Given the description of an element on the screen output the (x, y) to click on. 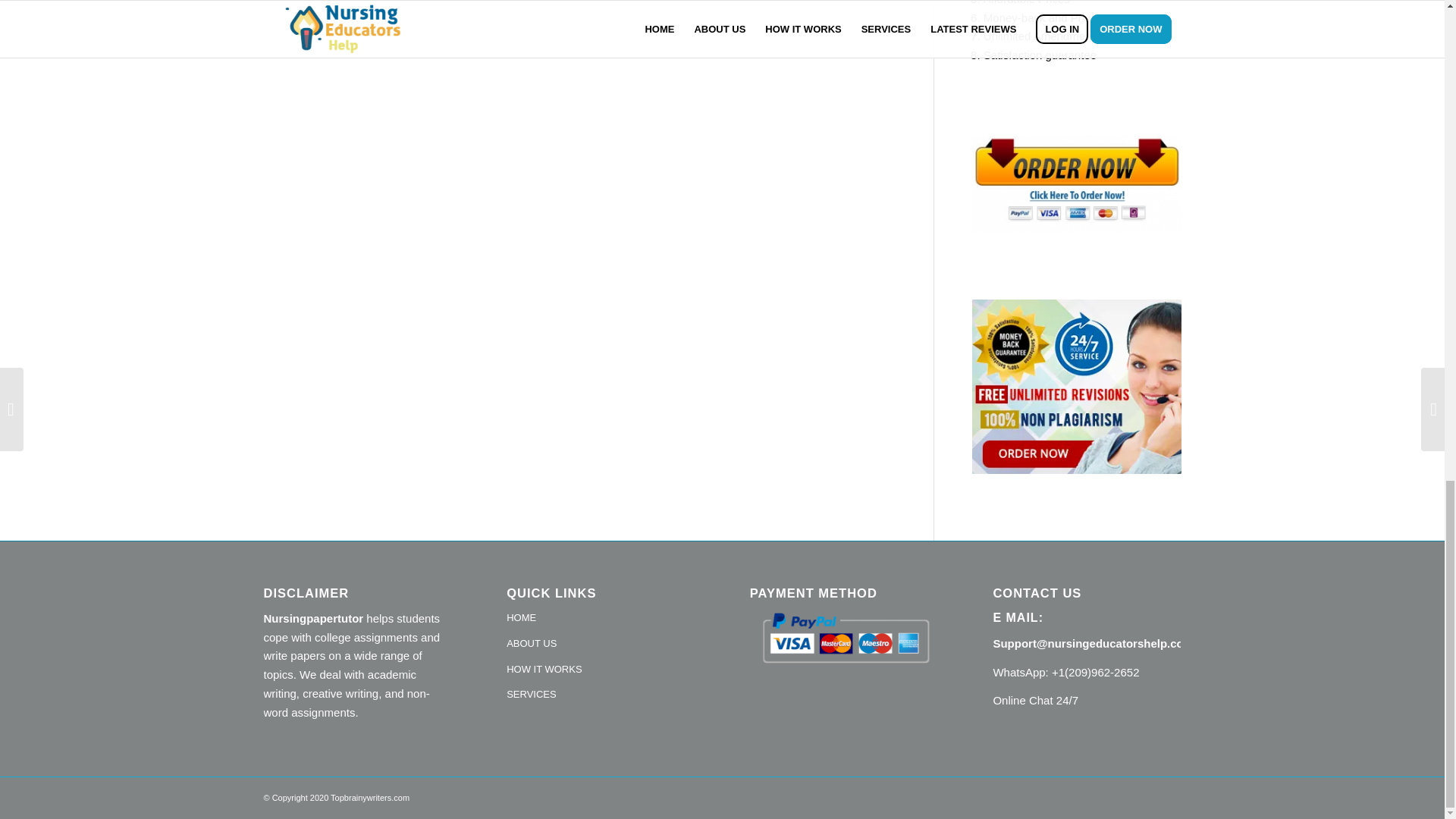
HOW IT WORKS (600, 670)
HOME (600, 618)
SERVICES (600, 695)
ABOUT US (600, 644)
